Given the description of an element on the screen output the (x, y) to click on. 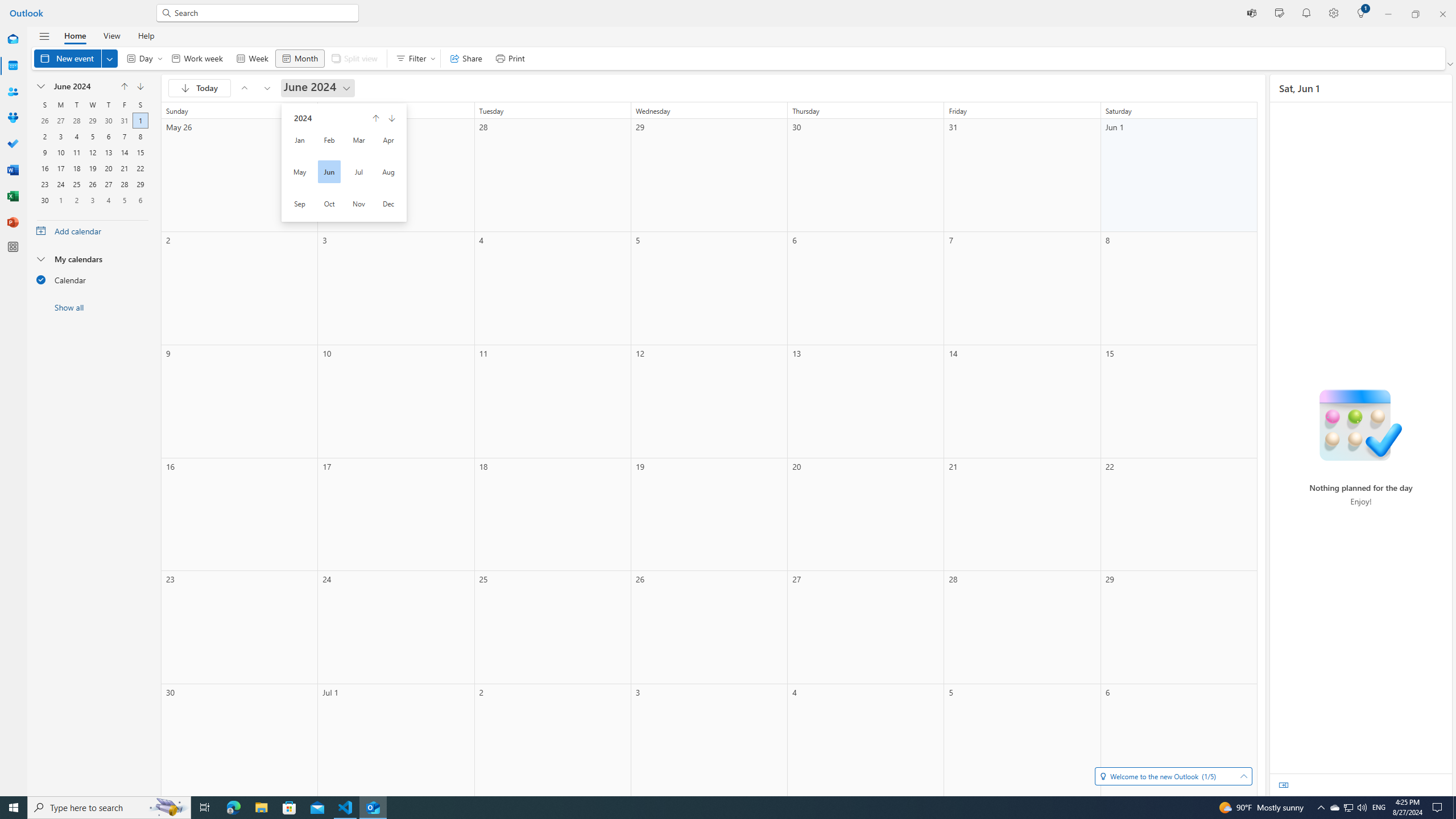
More apps (12, 246)
7, June, 2024 (124, 135)
June 2024, select to change the month (82, 86)
16, June, 2024 (44, 167)
Day (141, 58)
Search (262, 12)
Tuesday (76, 104)
29, May, 2024 (92, 119)
29, May, 2024 (92, 119)
Groups (12, 118)
12, June, 2024 (92, 151)
22, June, 2024 (140, 167)
1, June, 2024 (140, 119)
26, June, 2024 (92, 183)
